Given the description of an element on the screen output the (x, y) to click on. 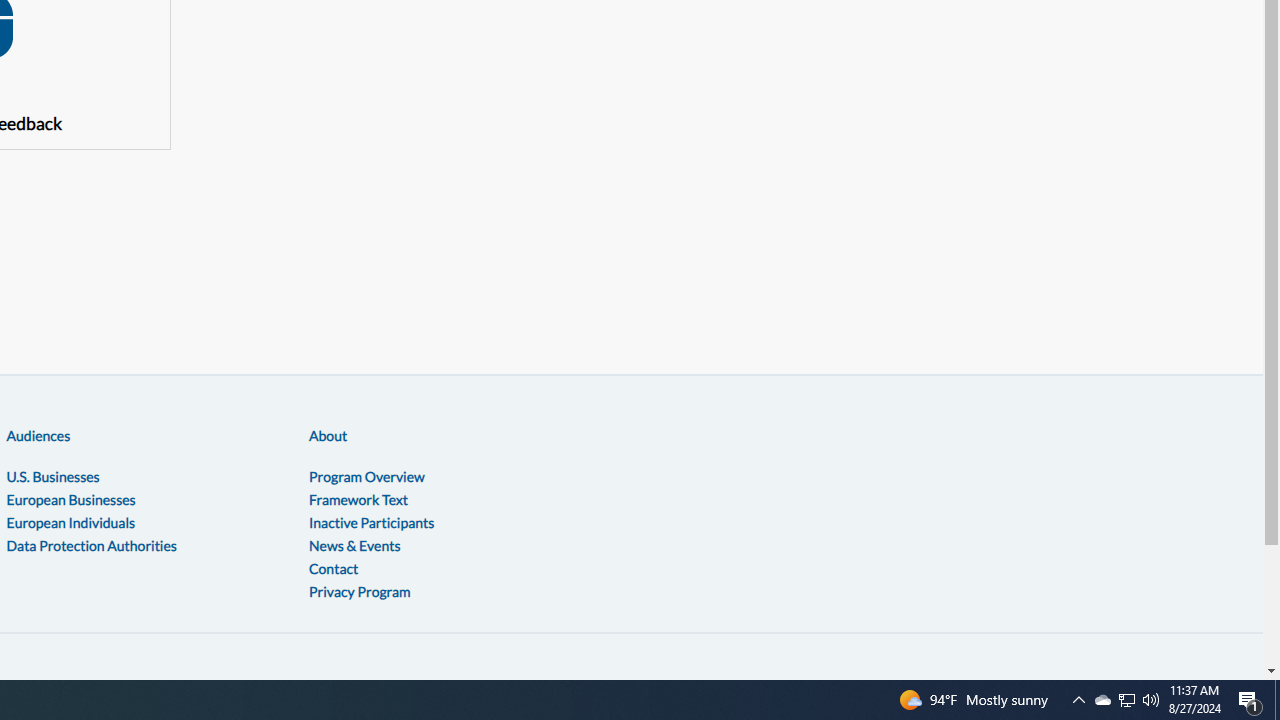
European Individuals (70, 521)
Contact (333, 567)
Inactive Participants (371, 521)
Framework Text (358, 499)
News & Events (354, 544)
About (328, 435)
Data Protection Authorities (91, 544)
Audiences (38, 435)
U.S. Businesses (52, 476)
Privacy Program (359, 590)
Program Overview (366, 476)
European Businesses (70, 499)
